Given the description of an element on the screen output the (x, y) to click on. 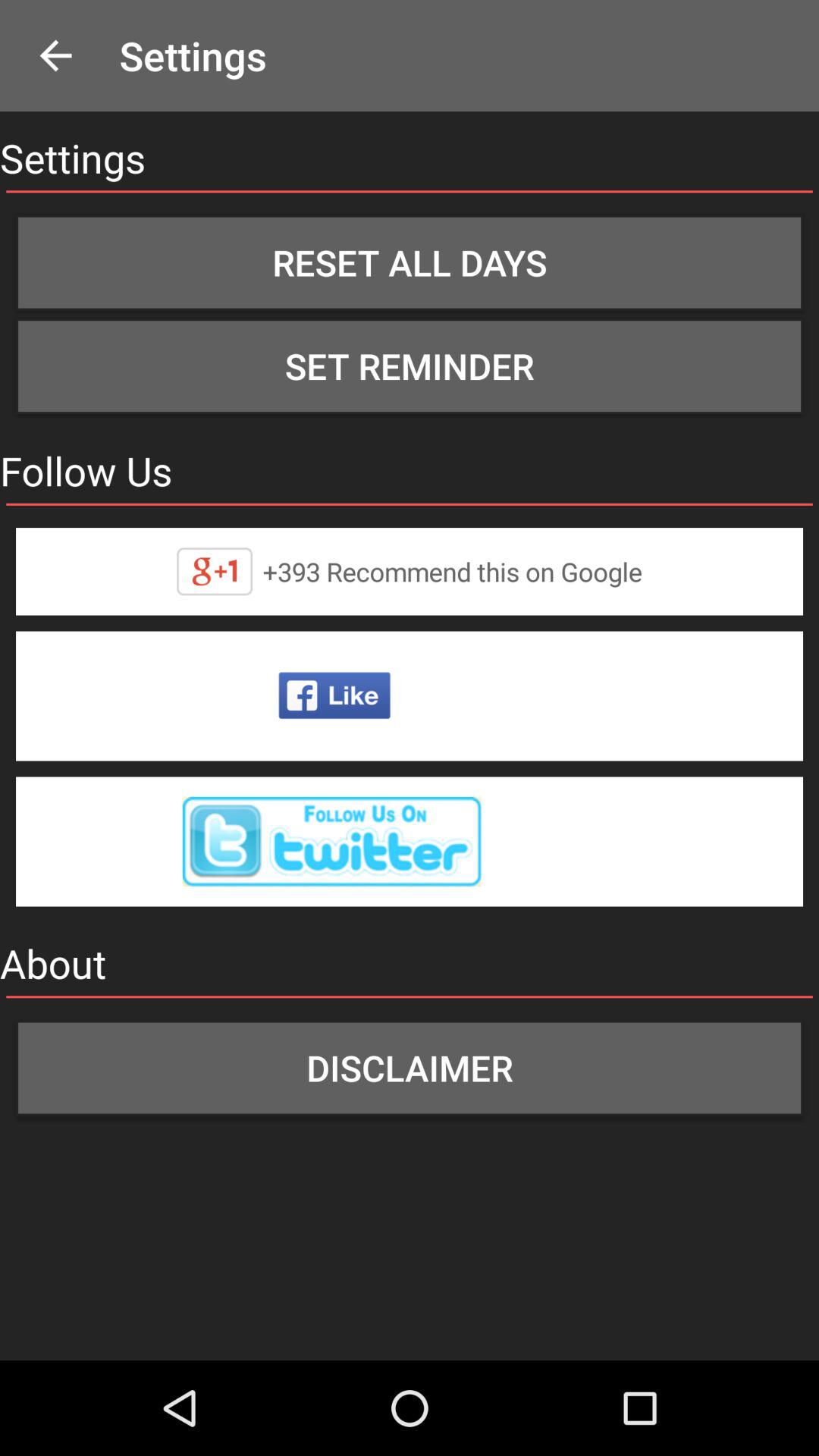
open the item above the set reminder icon (409, 262)
